Given the description of an element on the screen output the (x, y) to click on. 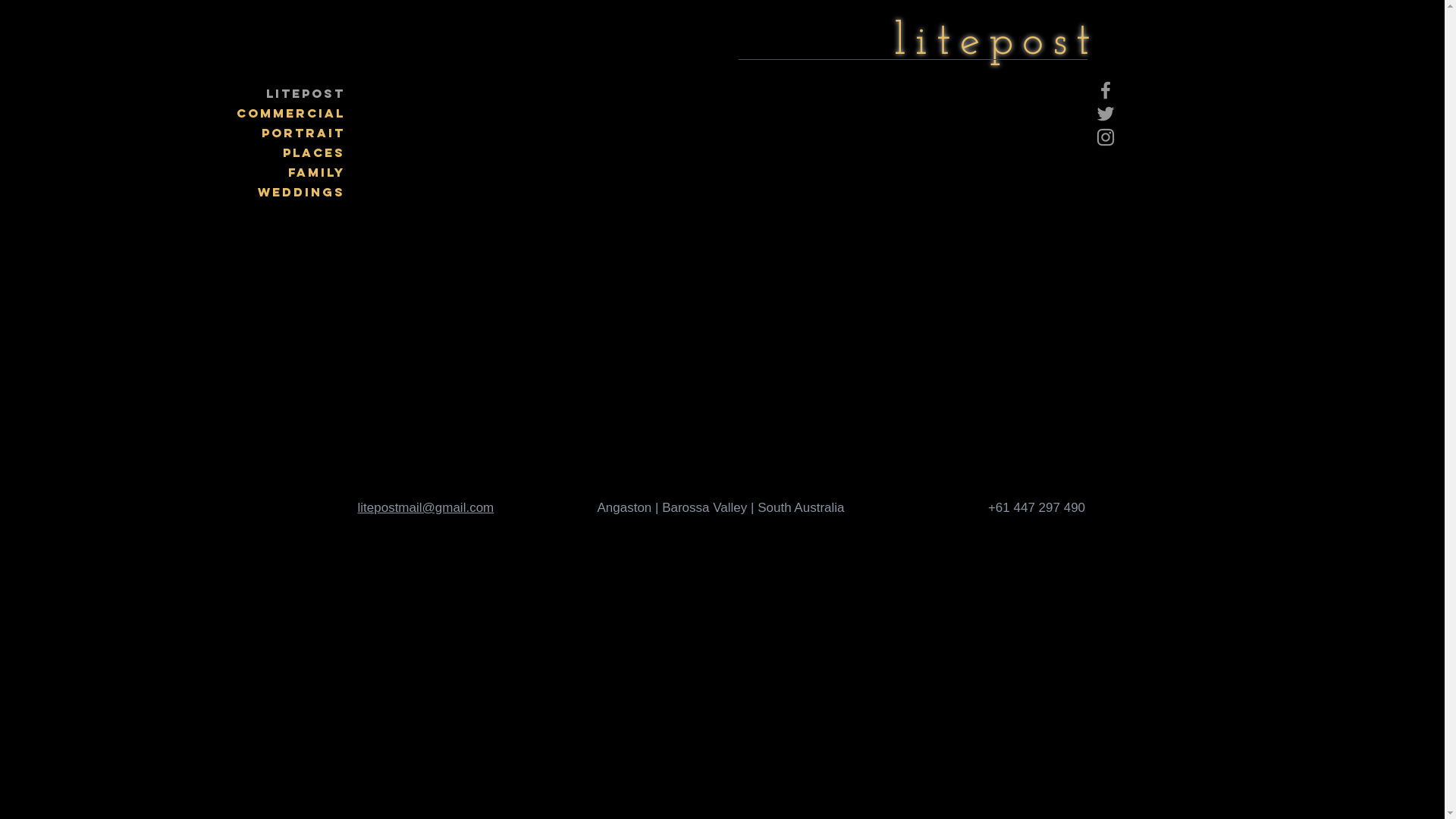
litepost Element type: text (995, 42)
COMMERCIAL Element type: text (291, 112)
WEDDINGS Element type: text (291, 191)
PORTRAIT Element type: text (291, 132)
PLACES Element type: text (291, 152)
Angaston | Barossa Valley | South Australia Element type: text (720, 507)
litepostmail@gmail.com Element type: text (425, 507)
FAMILY Element type: text (291, 172)
LITEPOST Element type: text (291, 93)
